Given the description of an element on the screen output the (x, y) to click on. 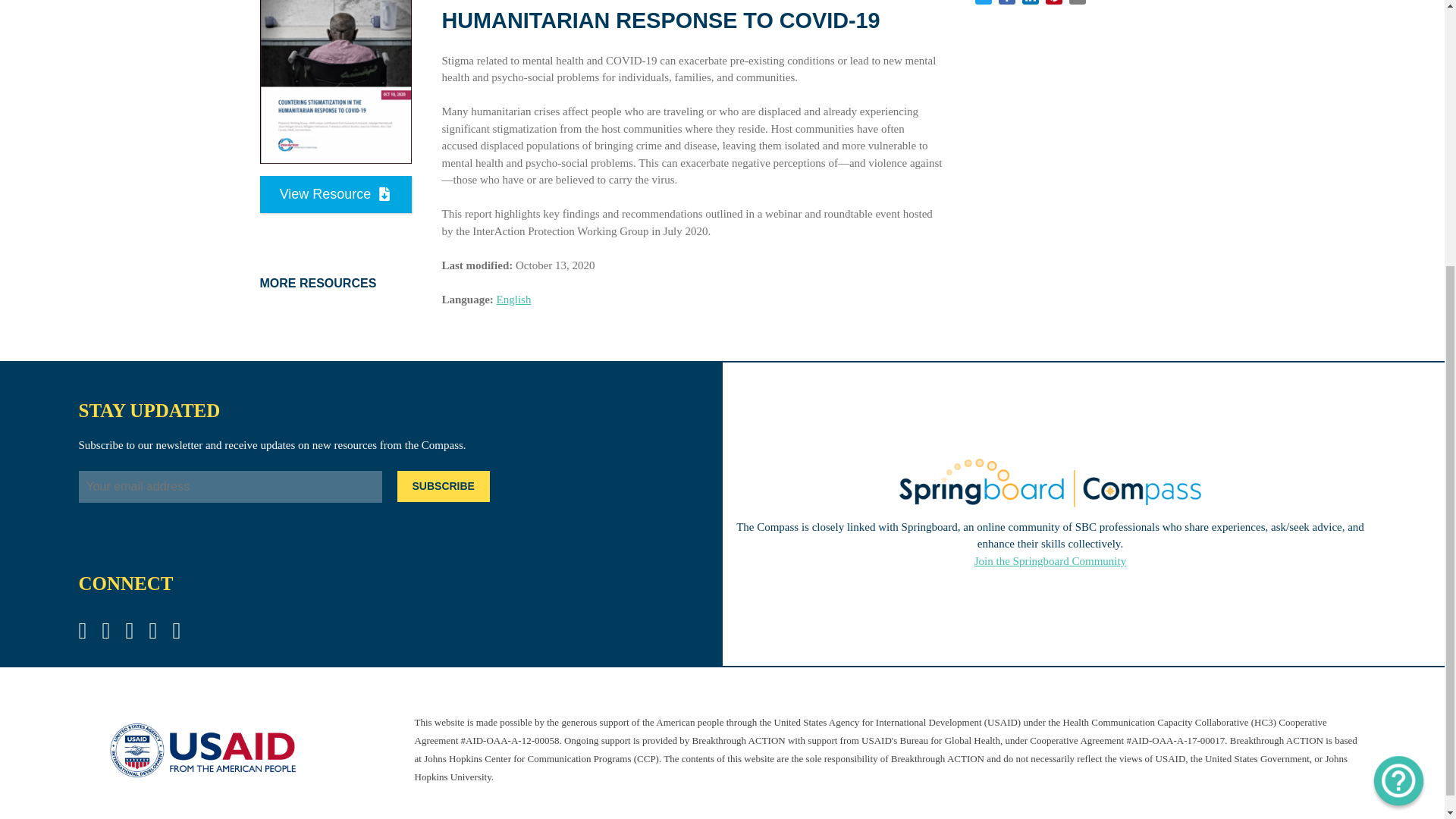
View Resource (334, 194)
Subscribe (443, 486)
Subscribe (443, 486)
English (513, 299)
Join the Springboard Community (1049, 561)
